Given the description of an element on the screen output the (x, y) to click on. 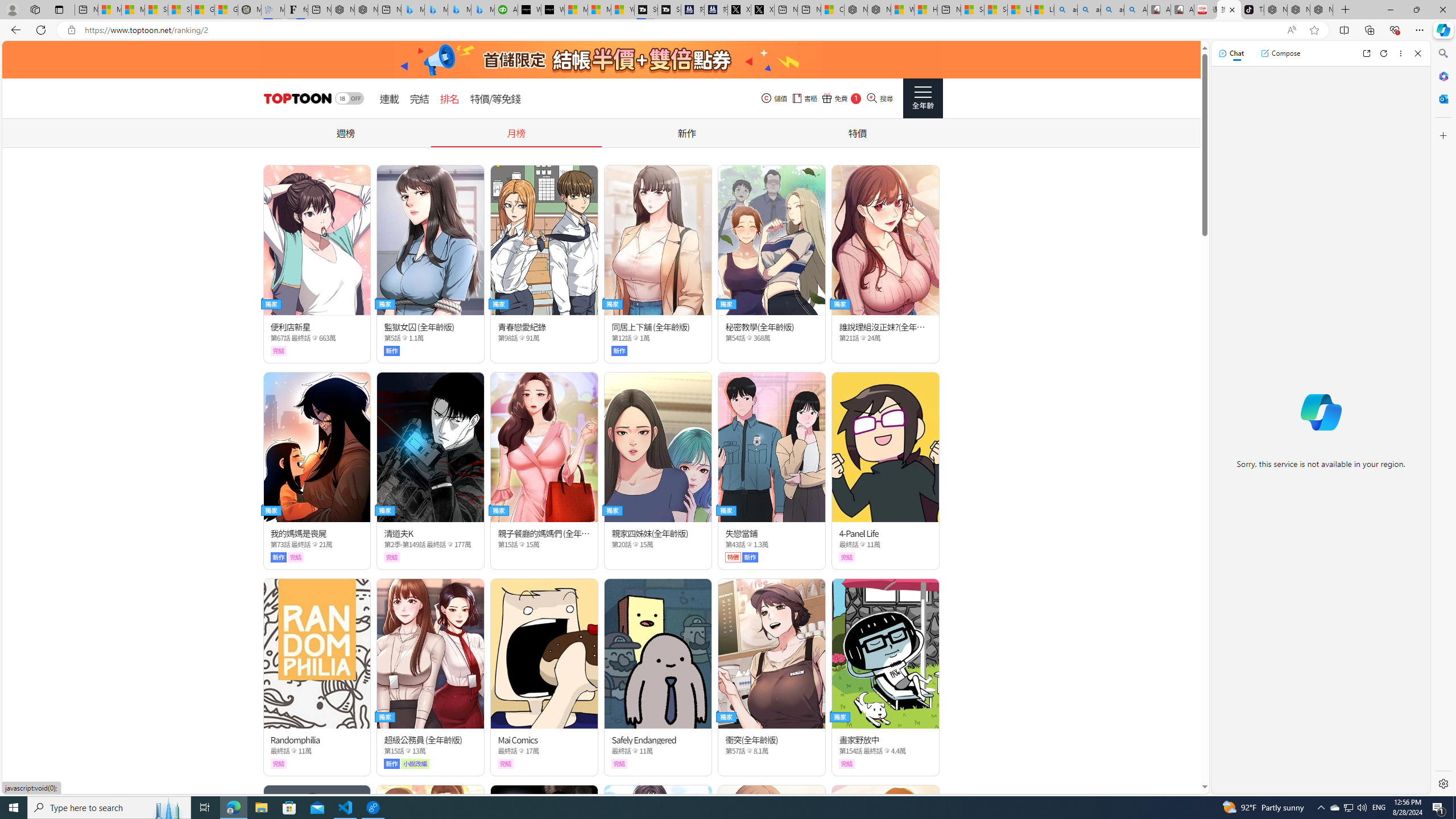
Nordace - Best Sellers (1275, 9)
